Given the description of an element on the screen output the (x, y) to click on. 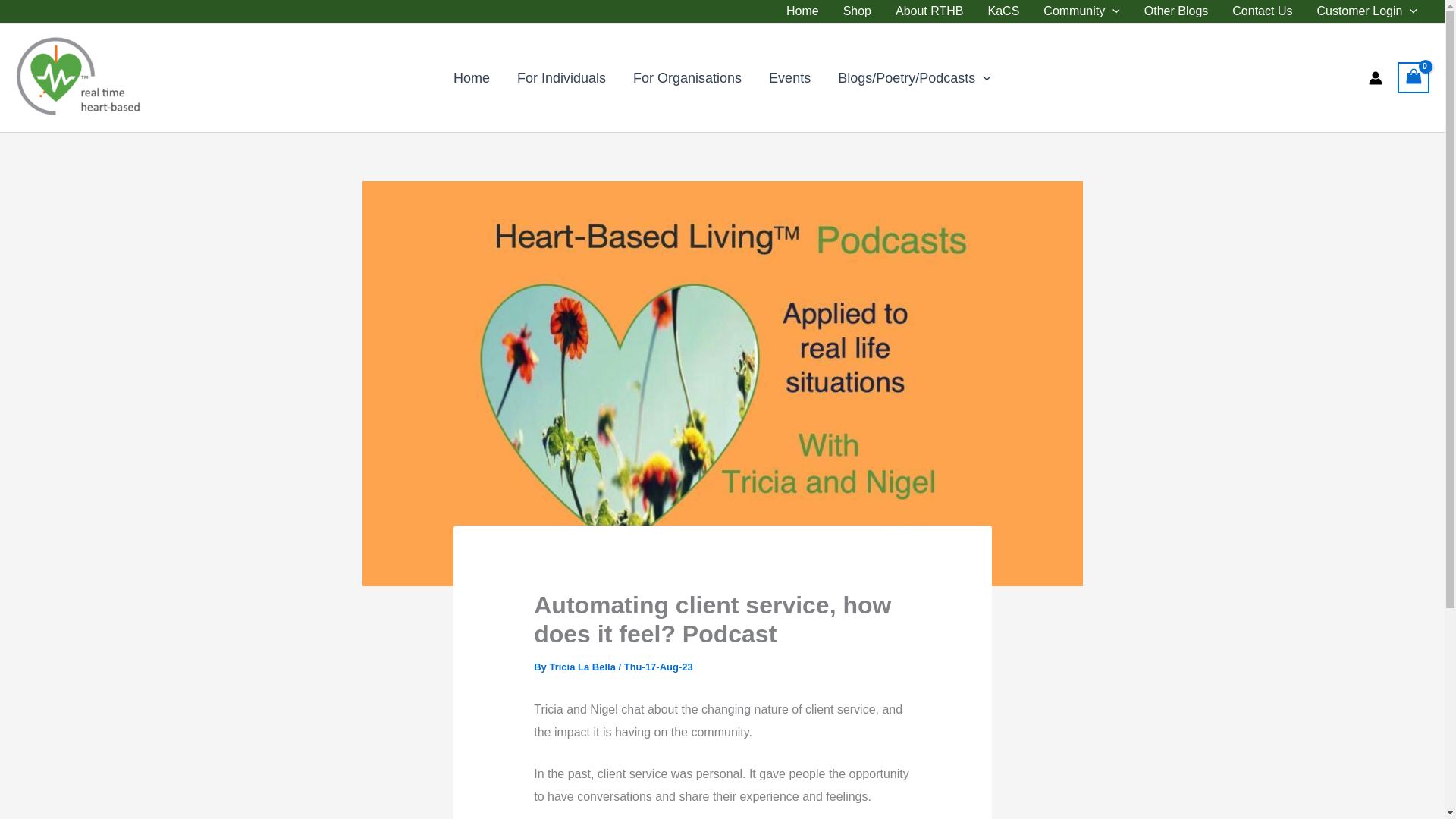
KaCS (1003, 11)
Contact Us (1262, 11)
For Organisations (687, 76)
Home (802, 11)
Shop (857, 11)
Other Blogs (1176, 11)
For Individuals (561, 76)
View all posts by Tricia La Bella (582, 666)
Home (471, 76)
Events (789, 76)
